Given the description of an element on the screen output the (x, y) to click on. 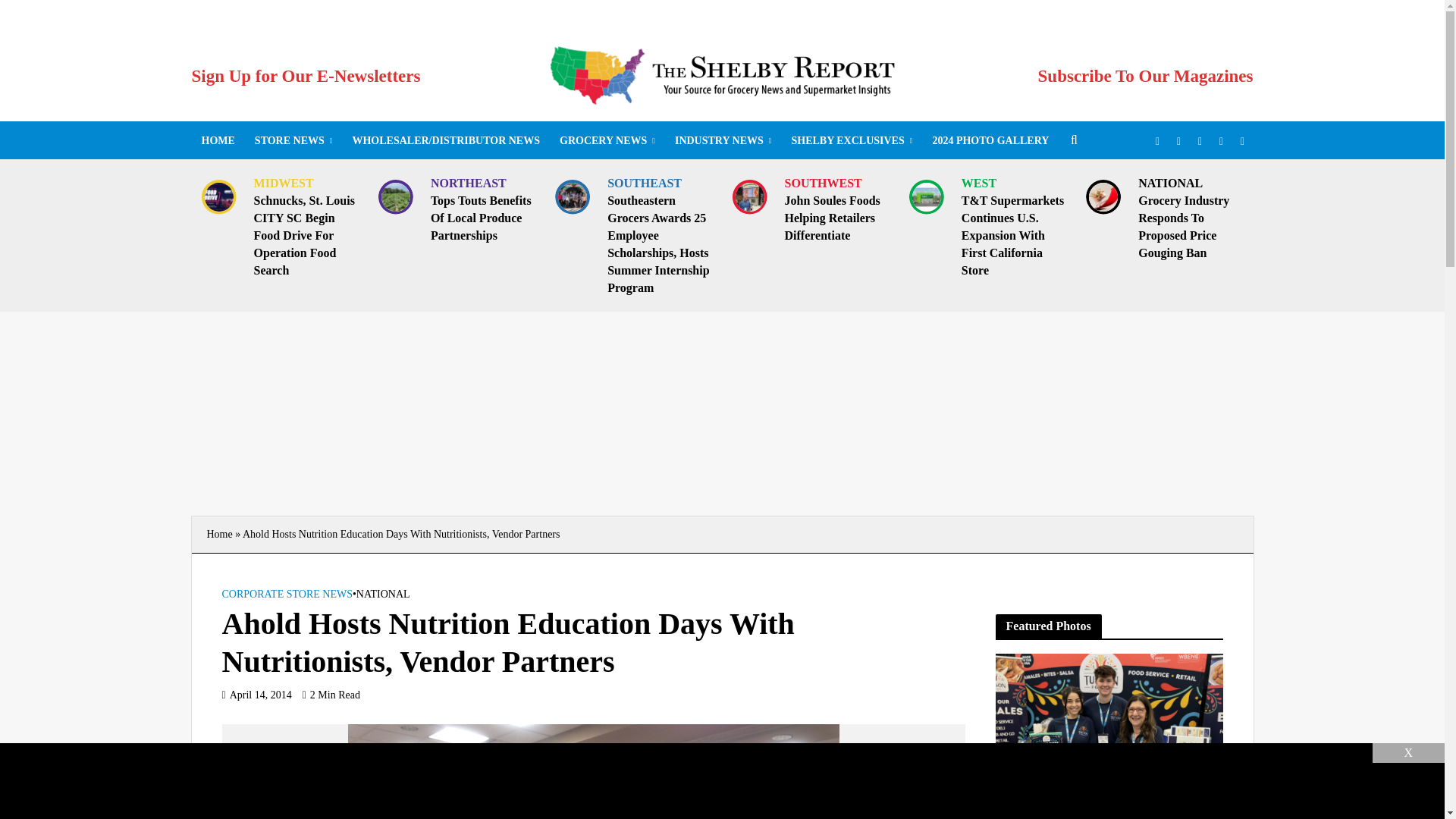
STORE NEWS (293, 140)
Sign Up for Our E-Newsletters (305, 76)
Subscribe To Our Magazines (1145, 76)
SHELBY EXCLUSIVES (850, 140)
INDUSTRY NEWS (723, 140)
GROCERY NEWS (607, 140)
HOME (217, 140)
